Given the description of an element on the screen output the (x, y) to click on. 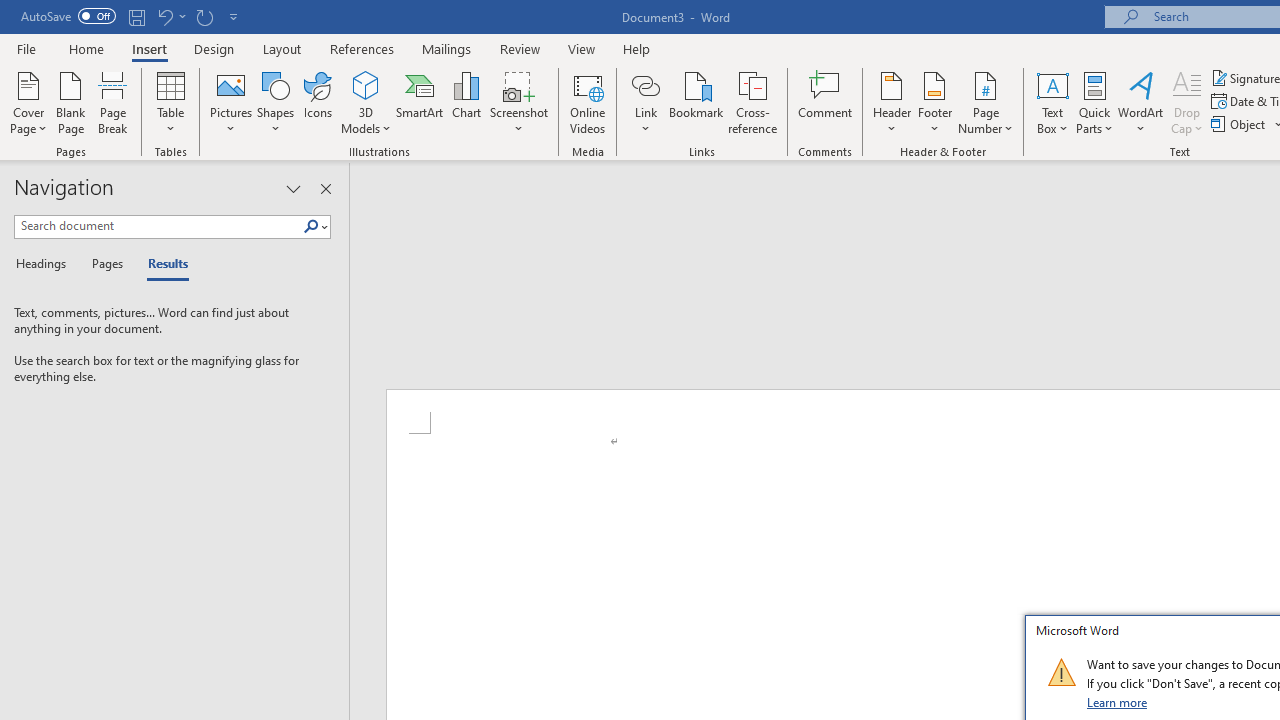
Link (645, 102)
Page Number (986, 102)
Cross-reference... (752, 102)
Text Box (1052, 102)
Repeat New Page (204, 15)
3D Models (366, 84)
Header (891, 102)
Table (170, 102)
Link (645, 84)
SmartArt... (419, 102)
